Given the description of an element on the screen output the (x, y) to click on. 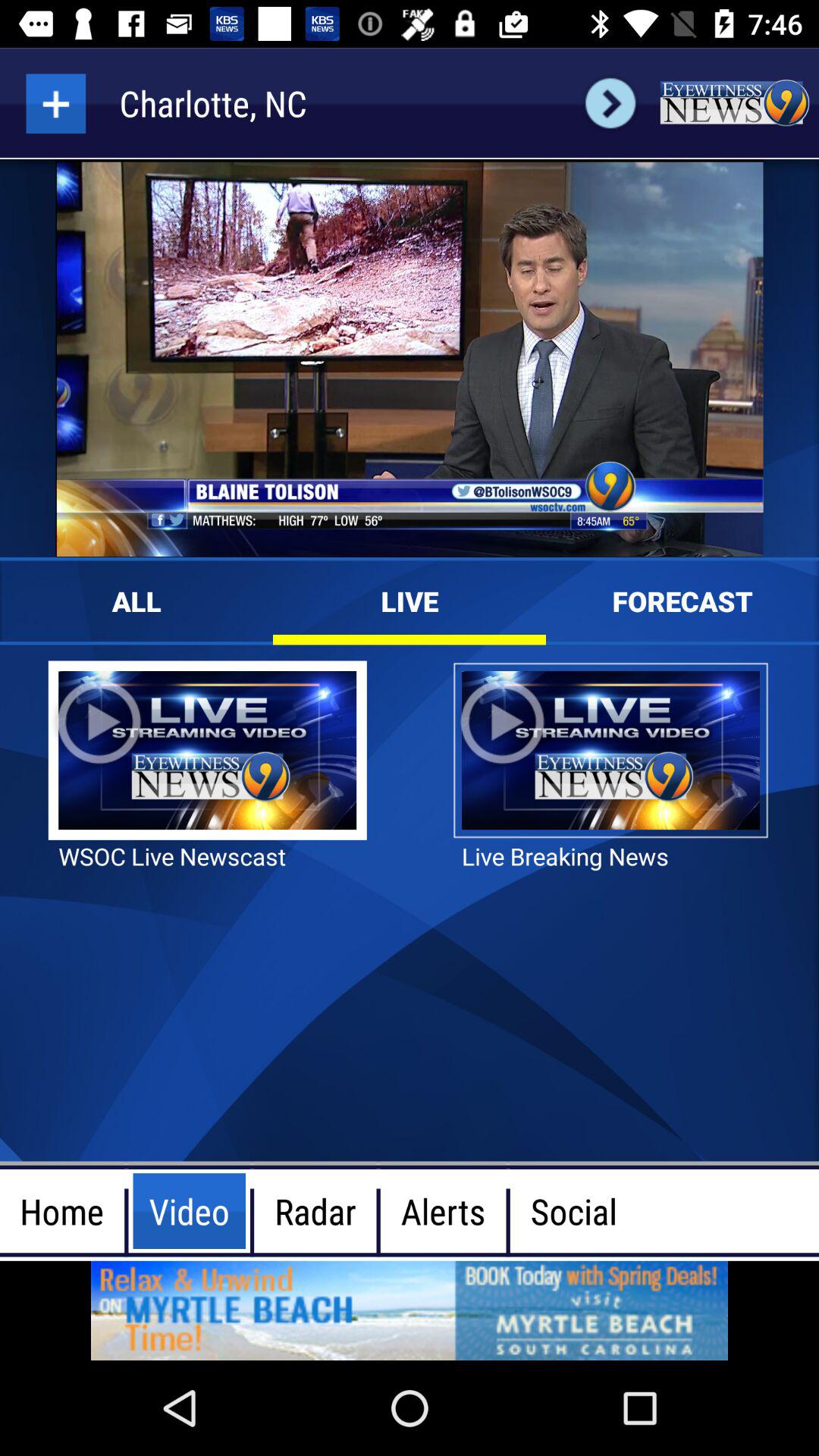
go to advertisement (409, 1310)
